Given the description of an element on the screen output the (x, y) to click on. 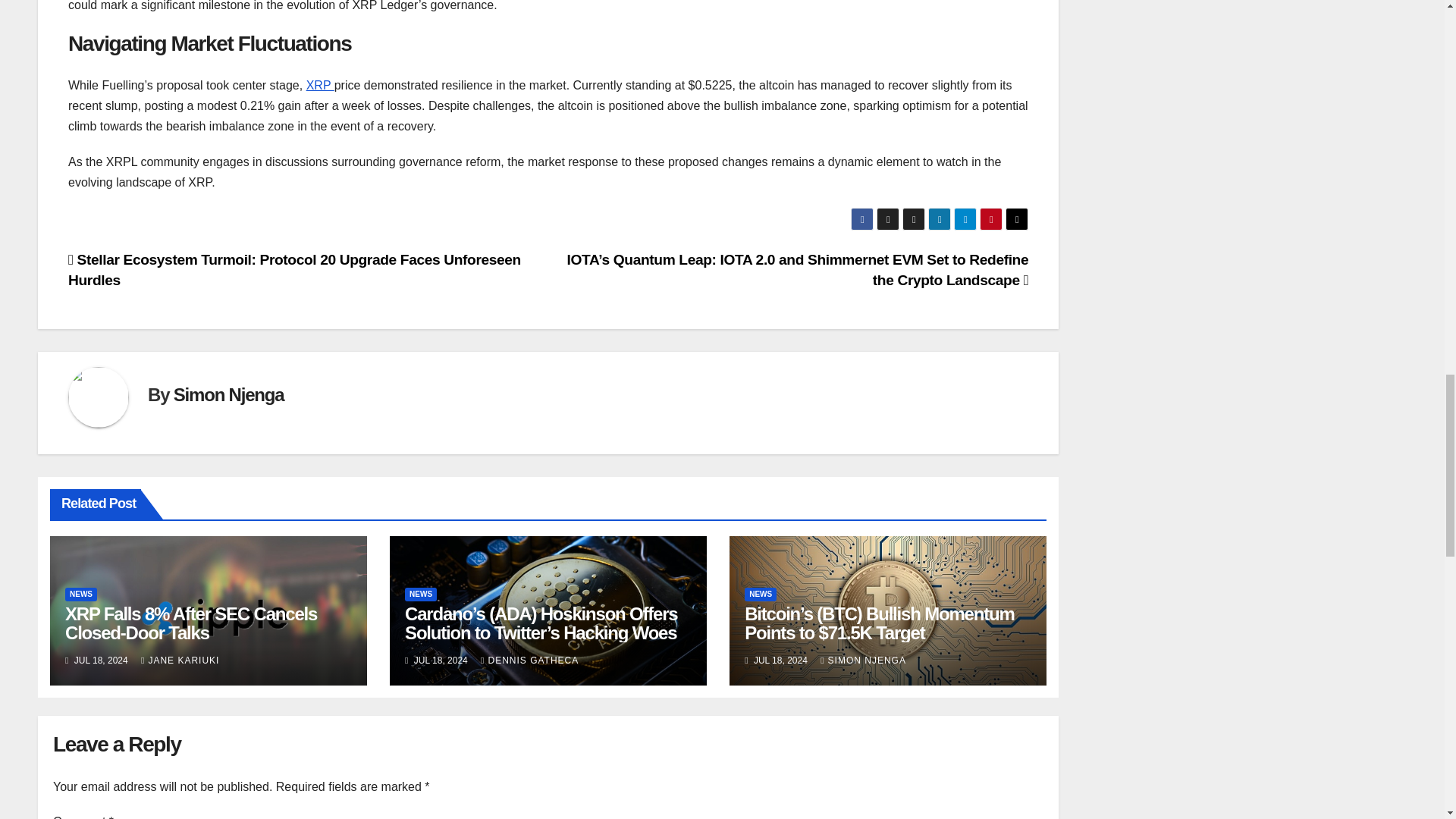
XRP (319, 84)
